Given the description of an element on the screen output the (x, y) to click on. 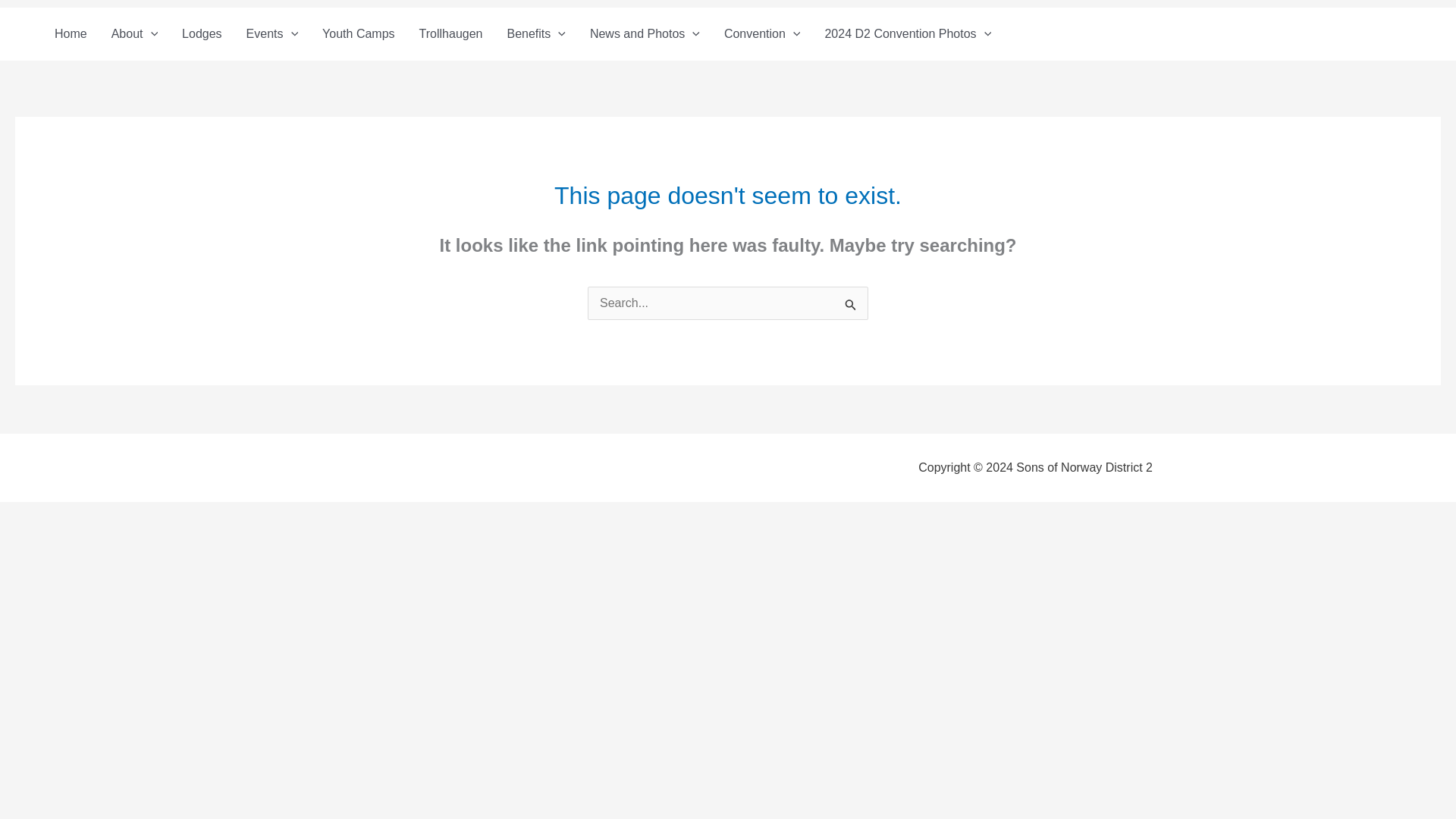
Benefits (535, 33)
News and Photos (644, 33)
Youth Camps (358, 33)
Convention (761, 33)
About (134, 33)
Home (70, 33)
Trollhaugen (451, 33)
Events (272, 33)
Lodges (202, 33)
